Given the description of an element on the screen output the (x, y) to click on. 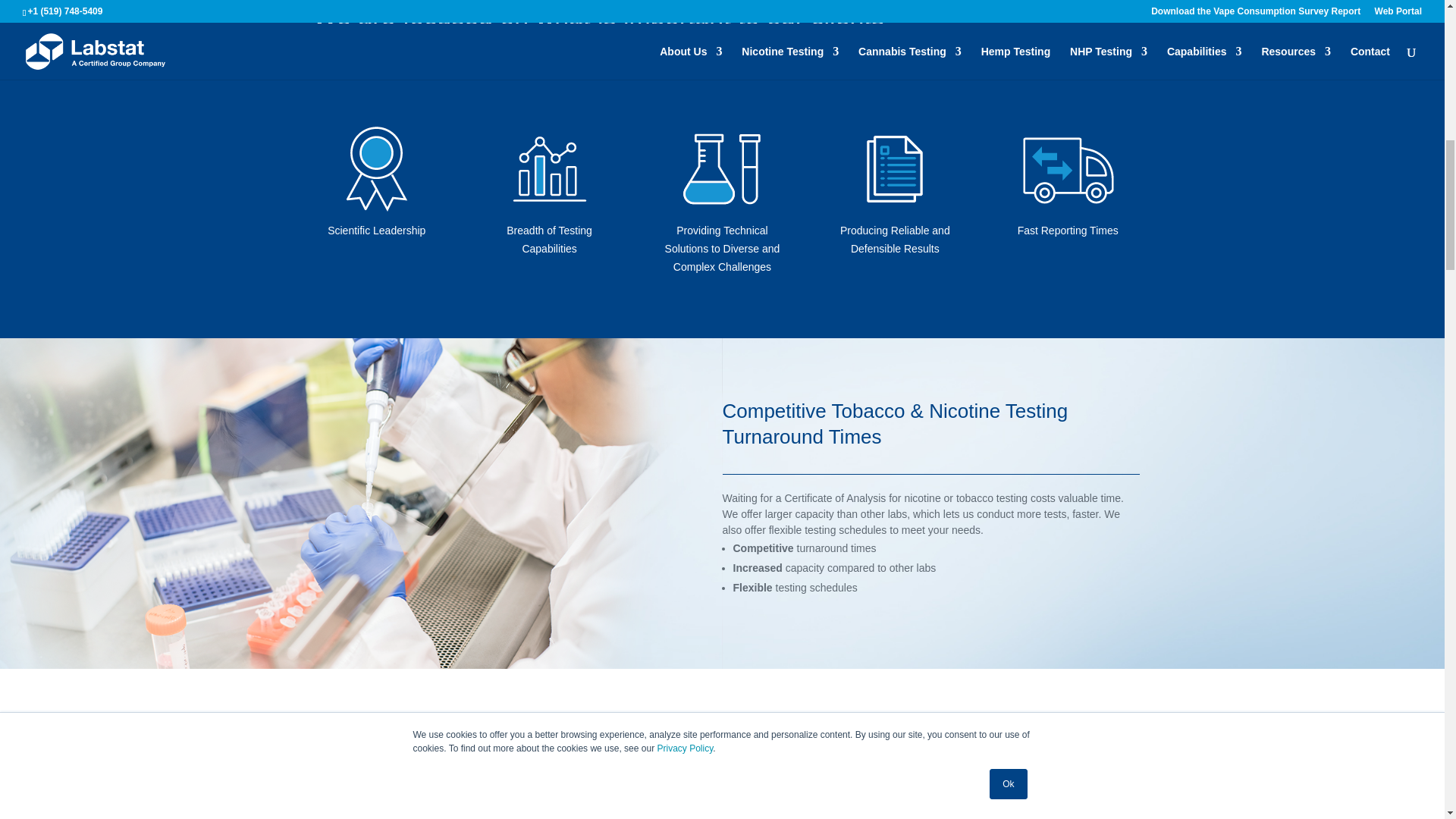
labstat-icon-gmp-white (376, 168)
labstat-icon-data-white (549, 168)
labstat-icon-fast-white (1066, 168)
labstat-icon-methods-white (721, 168)
labstat-icon-documents-white (894, 168)
